Given the description of an element on the screen output the (x, y) to click on. 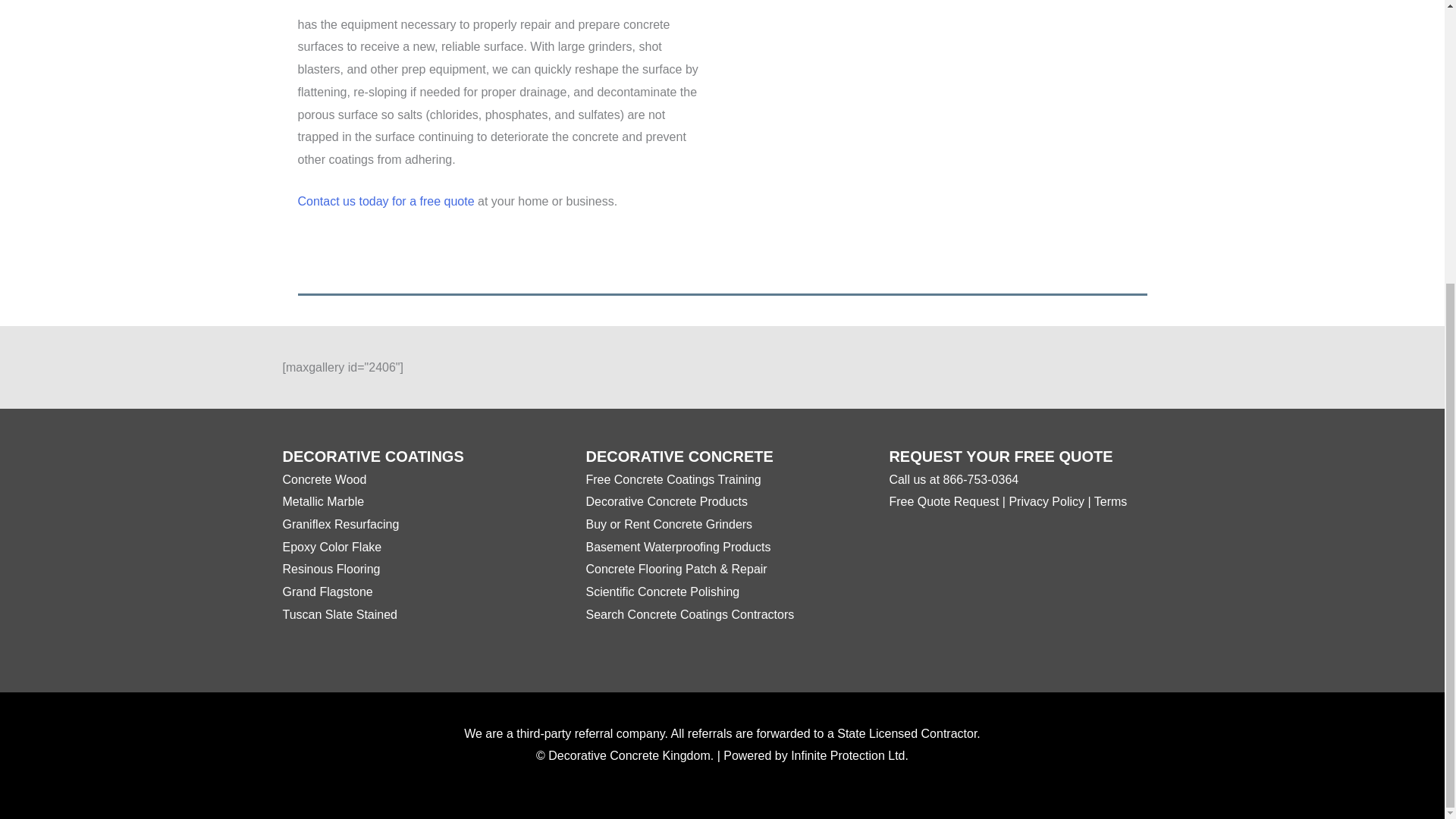
Scientific Concrete Polishing (662, 591)
Contact us today for a free quote (385, 201)
Metallic Marble (323, 501)
Search Concrete Coatings Contractors (689, 614)
Concrete Wood (324, 479)
Decorative Concrete Products (665, 501)
Resinous Flooring (331, 568)
Graniflex Resurfacing (340, 523)
Buy or Rent Concrete Grinders (668, 523)
Grand Flagstone (327, 591)
Free Concrete Coatings Training (672, 479)
Tuscan Slate Stained (339, 614)
Epoxy Color Flake (331, 546)
Basement Waterproofing Products (677, 546)
